Given the description of an element on the screen output the (x, y) to click on. 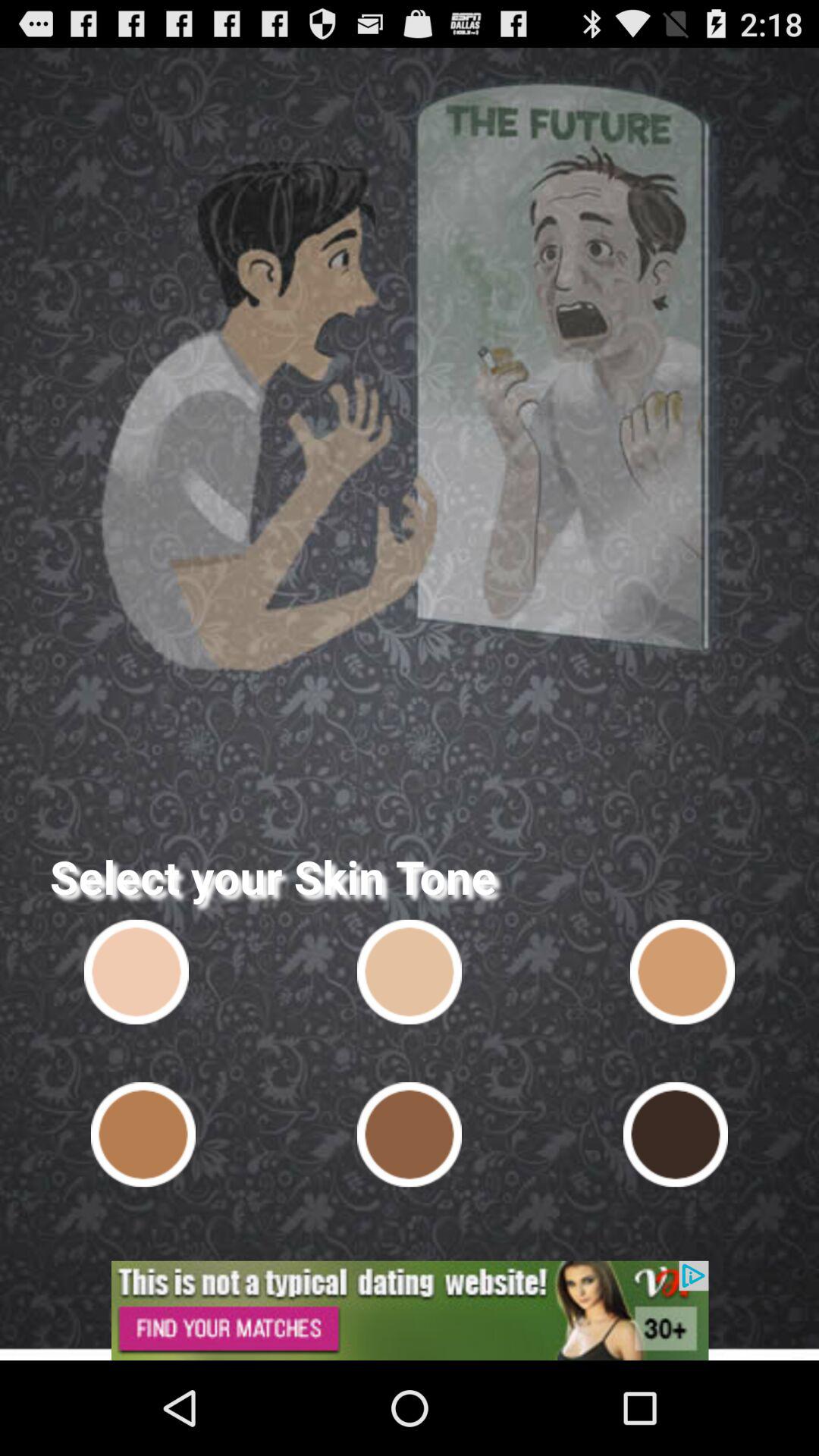
choose this skin tone (143, 1134)
